Given the description of an element on the screen output the (x, y) to click on. 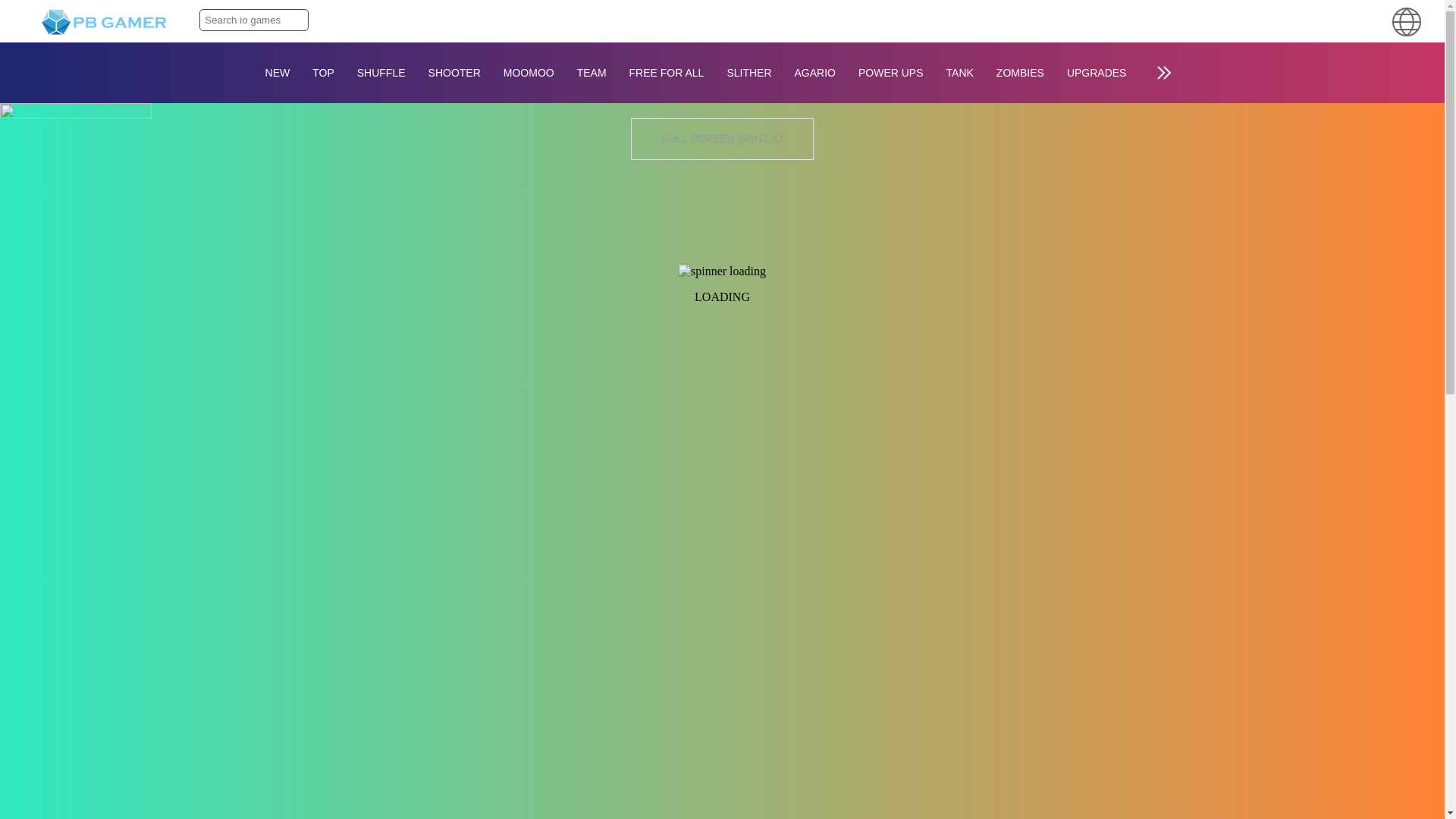
FREE FOR ALL (666, 72)
POWER UPS (890, 72)
MOOMOO (529, 72)
UPGRADES (1096, 72)
SHOOTER (454, 72)
Search (294, 19)
ZOMBIES (1020, 72)
AGARIO (814, 72)
SHUFFLE (381, 72)
SLITHER (748, 72)
